Given the description of an element on the screen output the (x, y) to click on. 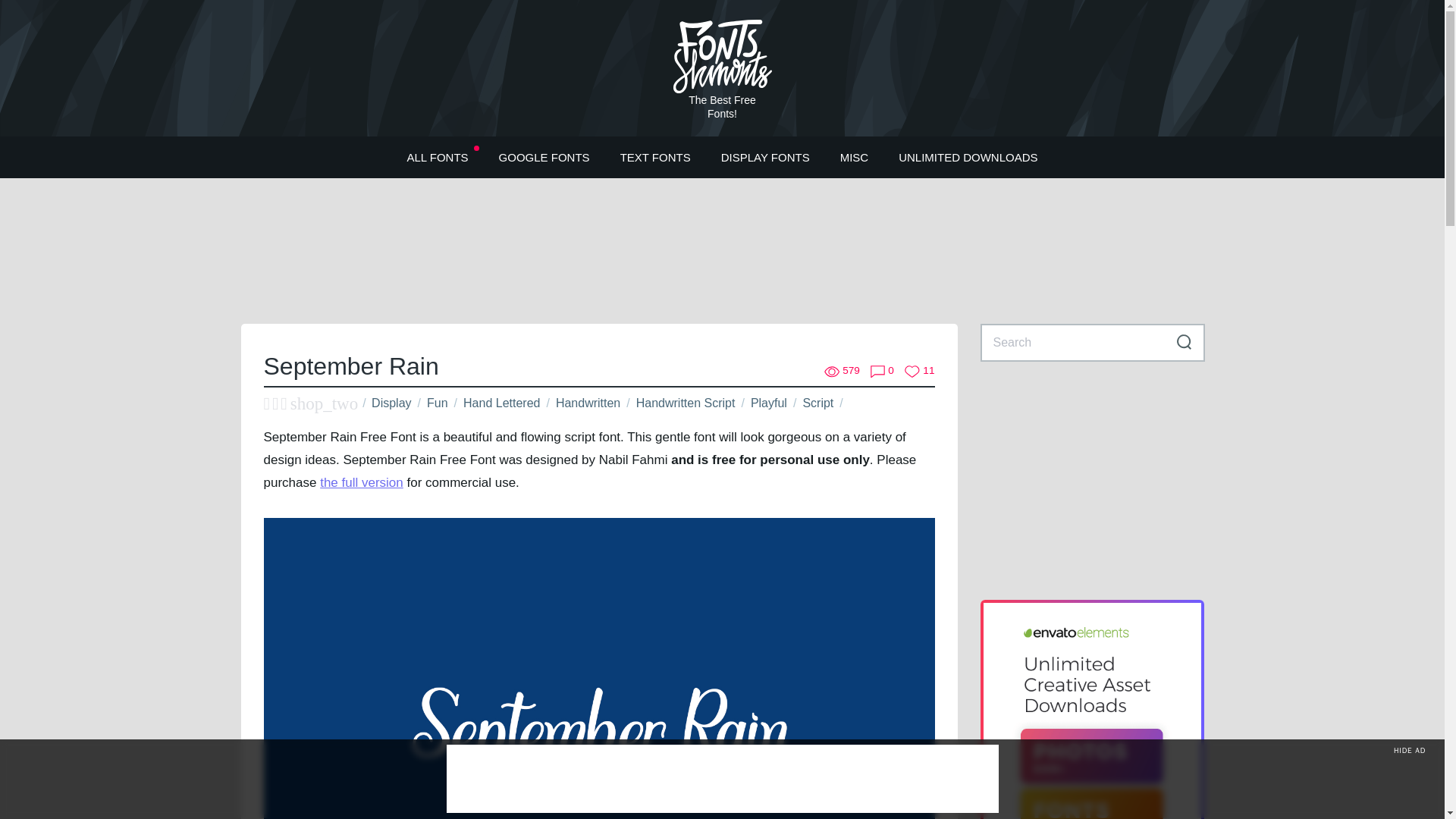
Handwritten Script (685, 402)
UNLIMITED DOWNLOADS (967, 156)
DISPLAY FONTS (765, 156)
Script (817, 402)
582 (842, 370)
ALL FONTS (437, 156)
the full version (361, 482)
Display Fonts (765, 156)
GOOGLE FONTS (544, 156)
MISC (854, 156)
